Given the description of an element on the screen output the (x, y) to click on. 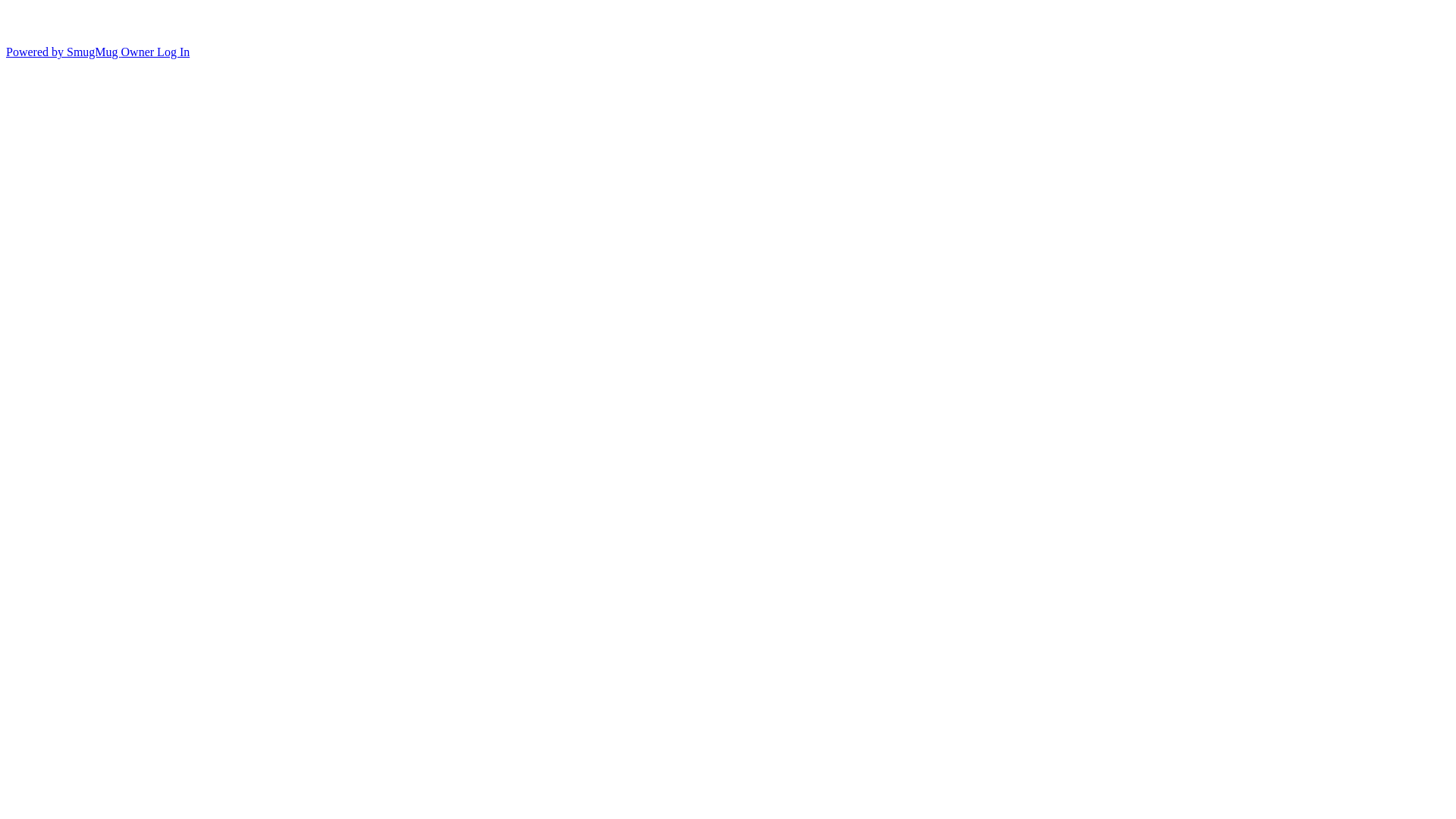
Owner Log In Element type: text (155, 51)
Powered by SmugMug Element type: text (63, 51)
